Given the description of an element on the screen output the (x, y) to click on. 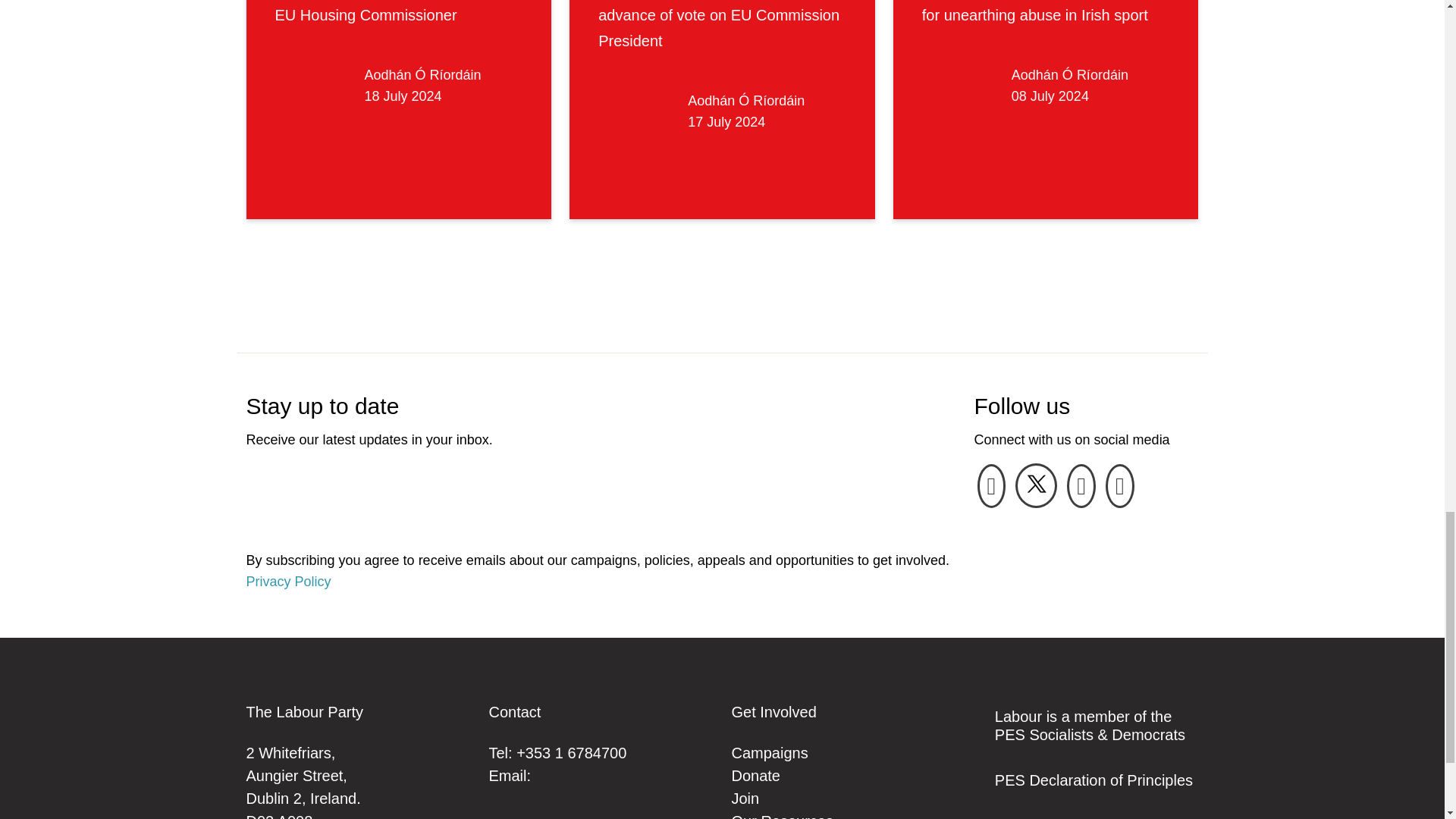
Our Resources (781, 816)
Join (744, 798)
Campaigns (769, 752)
Privacy Policy (288, 581)
Donate (755, 775)
PES Declaration of Principles (1093, 780)
